Given the description of an element on the screen output the (x, y) to click on. 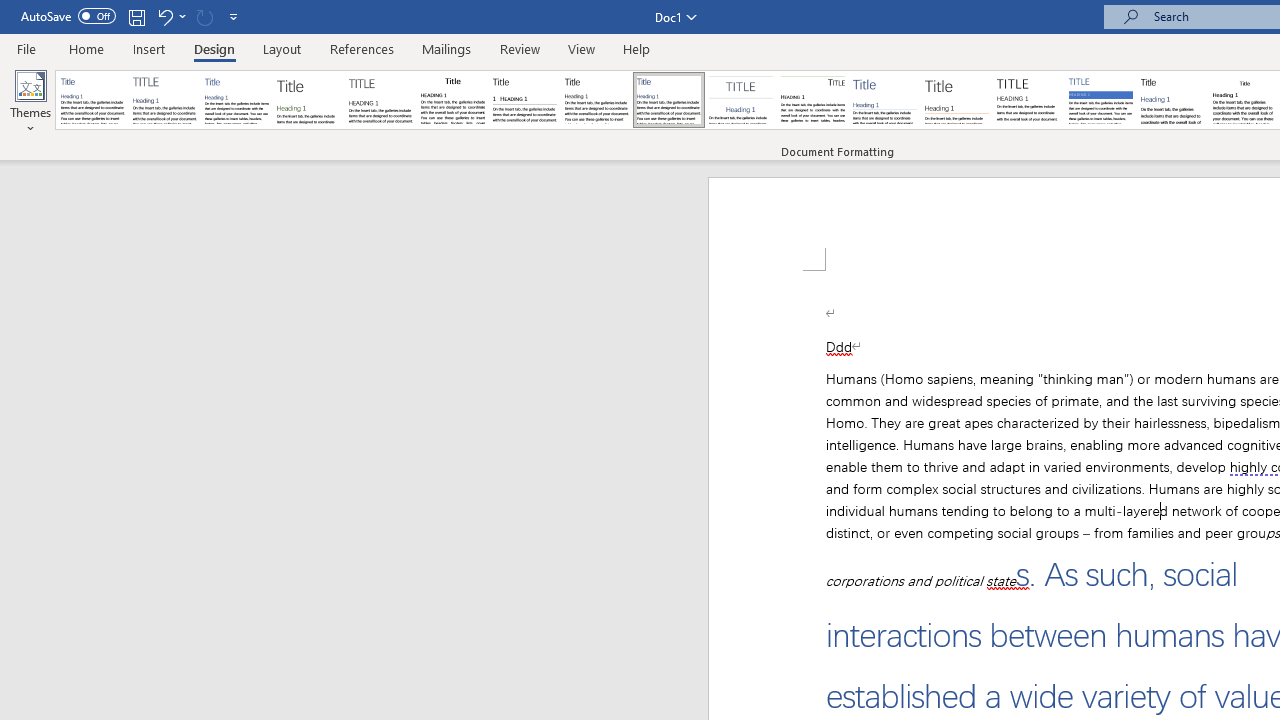
Can't Repeat (204, 15)
Basic (Simple) (236, 100)
Lines (Distinctive) (812, 100)
Black & White (Word 2013) (596, 100)
Document (93, 100)
Themes (30, 102)
Casual (669, 100)
Centered (740, 100)
